Given the description of an element on the screen output the (x, y) to click on. 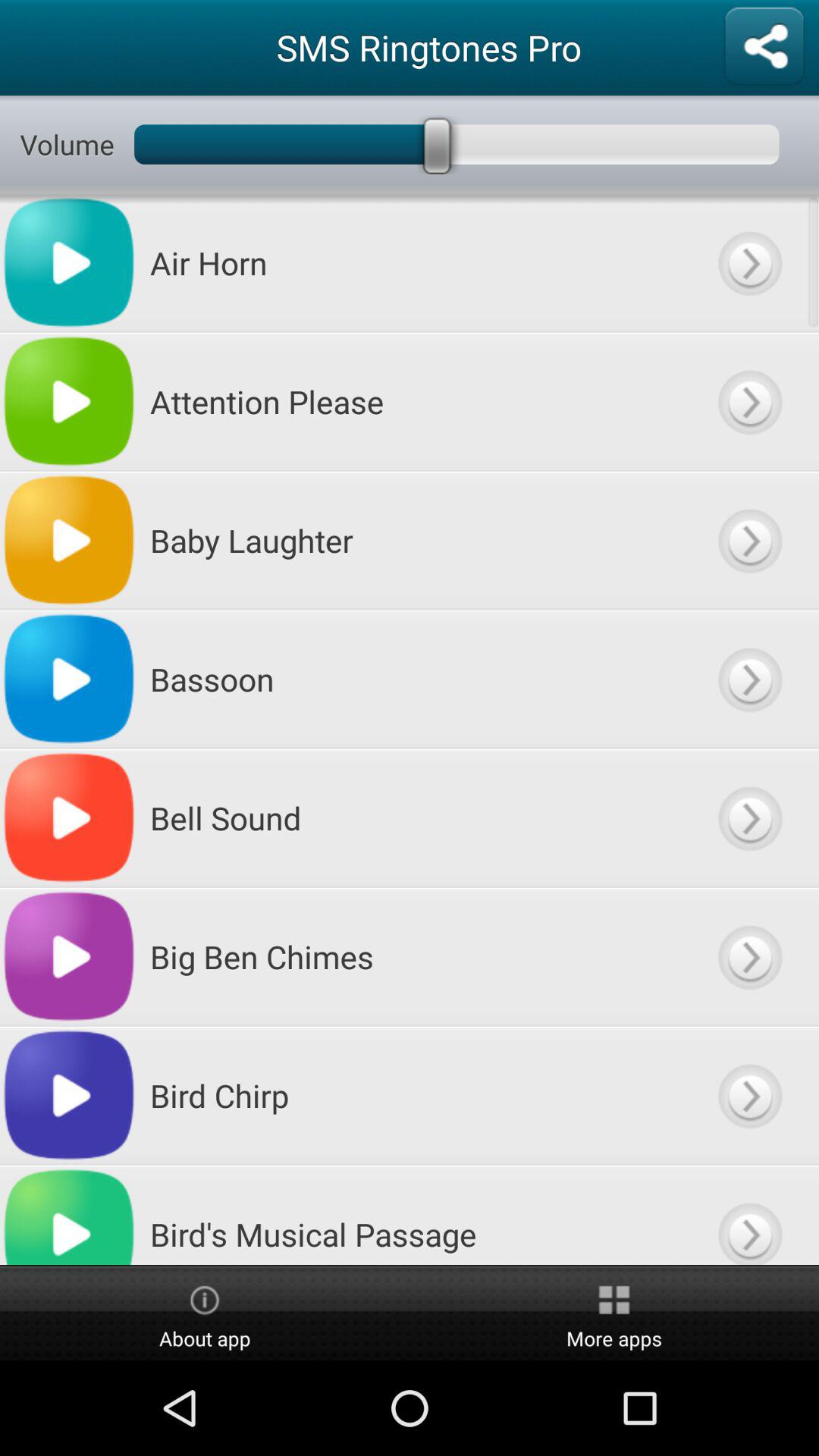
go to putturn (749, 401)
